Given the description of an element on the screen output the (x, y) to click on. 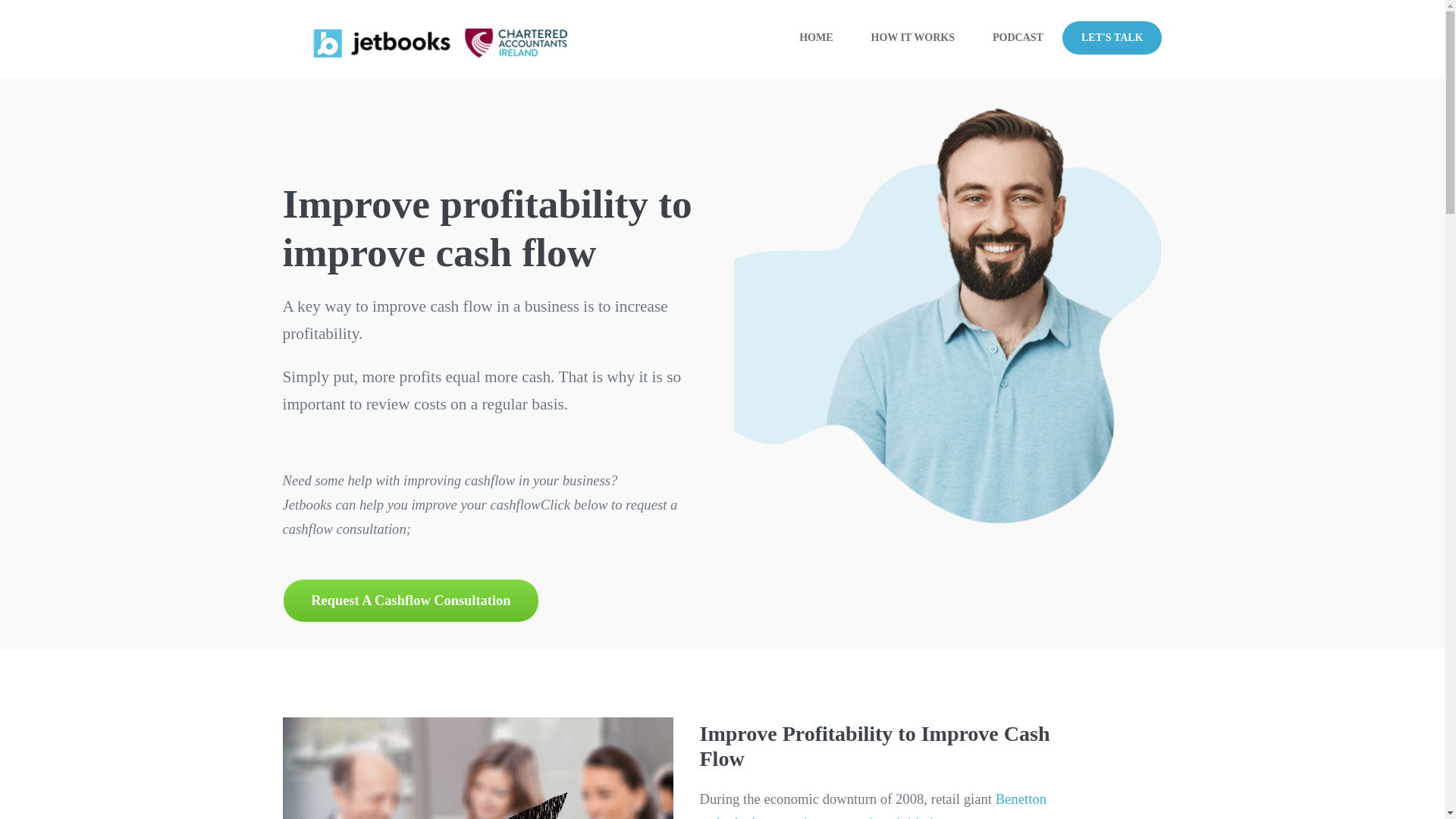
HOW IT WORKS (912, 38)
HOME (815, 38)
Request A Cashflow Consultation (410, 599)
LET'S TALK (1111, 37)
PODCAST (1018, 38)
Benetton embarked on a major cost-savings initiative (872, 805)
